Given the description of an element on the screen output the (x, y) to click on. 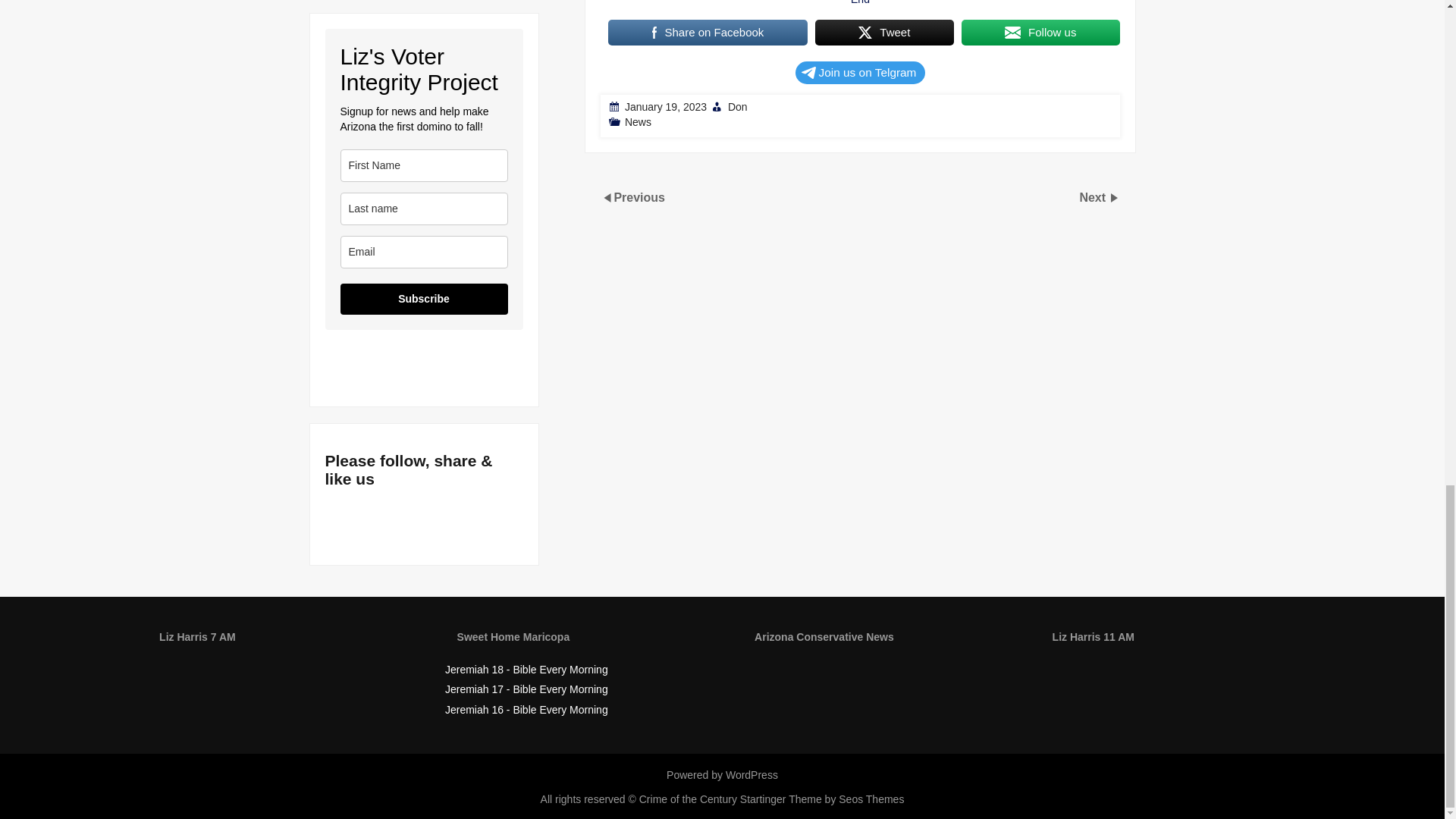
Follow us (1039, 32)
Follow by Email (377, 520)
RSS (342, 520)
Previous (638, 196)
Don (736, 106)
Next (1093, 196)
January 19, 2023 (665, 106)
Facebook (411, 520)
Share on Facebook (708, 32)
Seos Theme - Startinger (821, 799)
Tweet (883, 32)
Join us on Telgram (859, 72)
News (637, 121)
Twitter (445, 520)
